Given the description of an element on the screen output the (x, y) to click on. 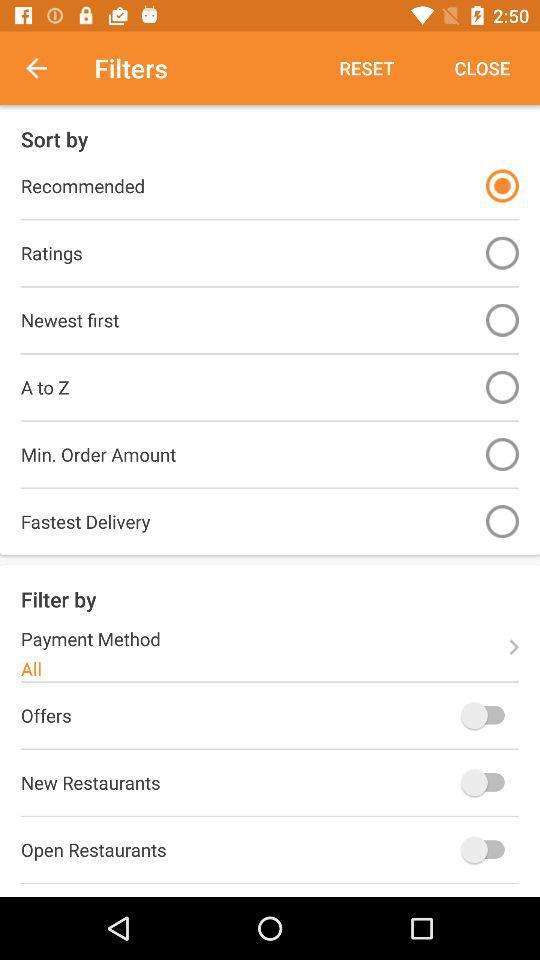
turn on new restaurants (487, 782)
